Given the description of an element on the screen output the (x, y) to click on. 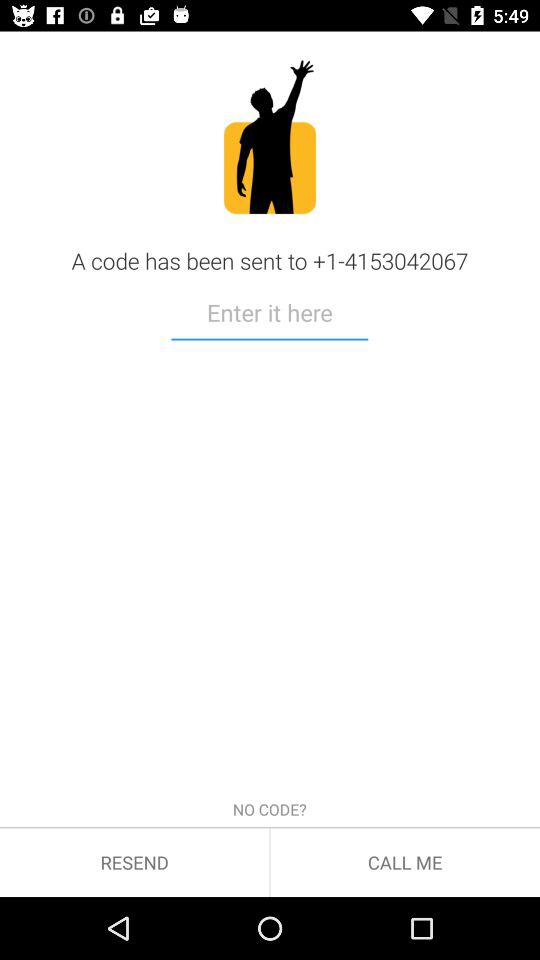
select the call me at the bottom right corner (405, 862)
